Given the description of an element on the screen output the (x, y) to click on. 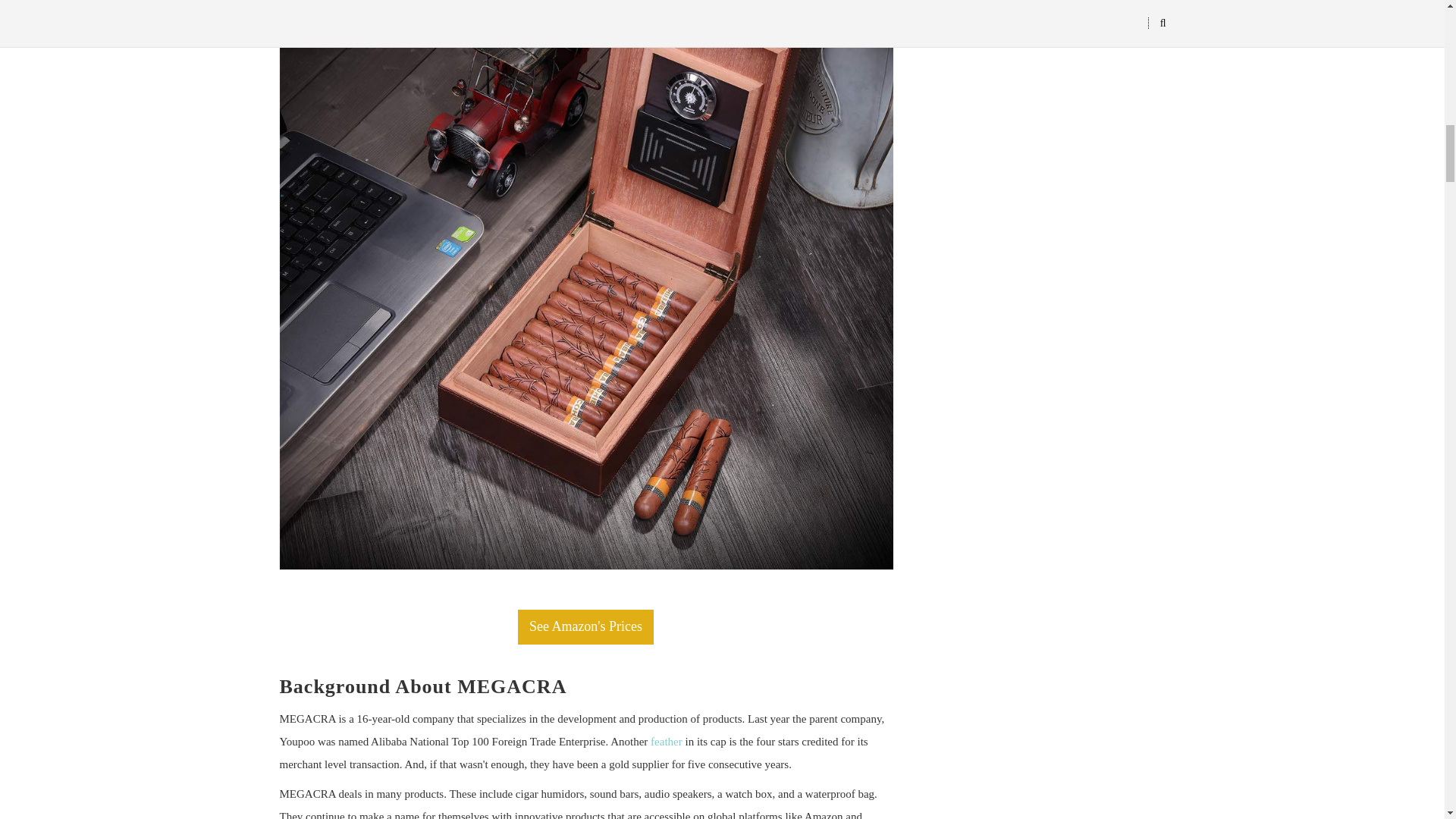
See Amazon's Prices (585, 626)
feather (666, 741)
